Given the description of an element on the screen output the (x, y) to click on. 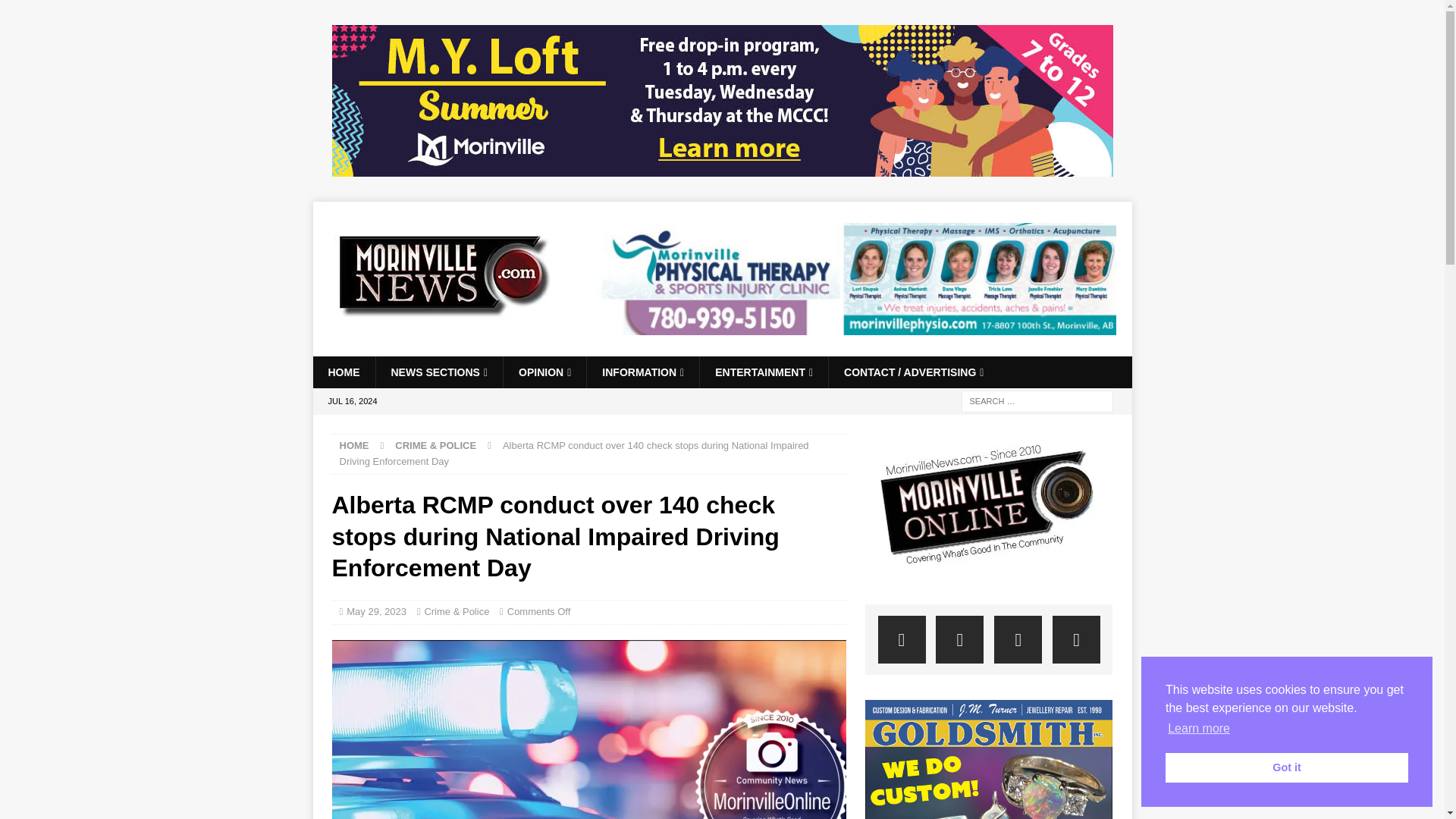
police (588, 729)
